Given the description of an element on the screen output the (x, y) to click on. 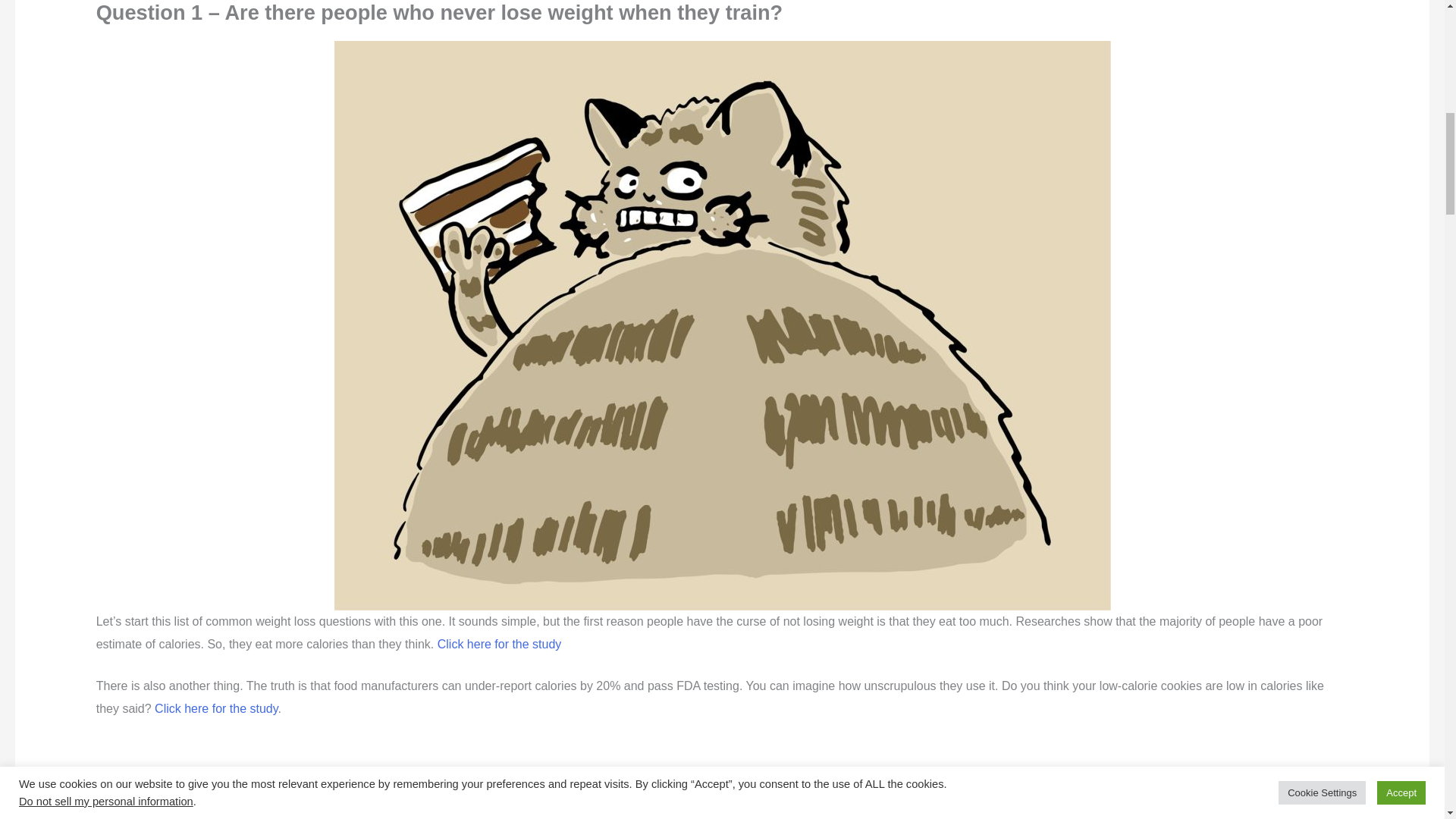
Advertisement (470, 779)
Click here for the study (500, 644)
Click here for the study (216, 707)
